Given the description of an element on the screen output the (x, y) to click on. 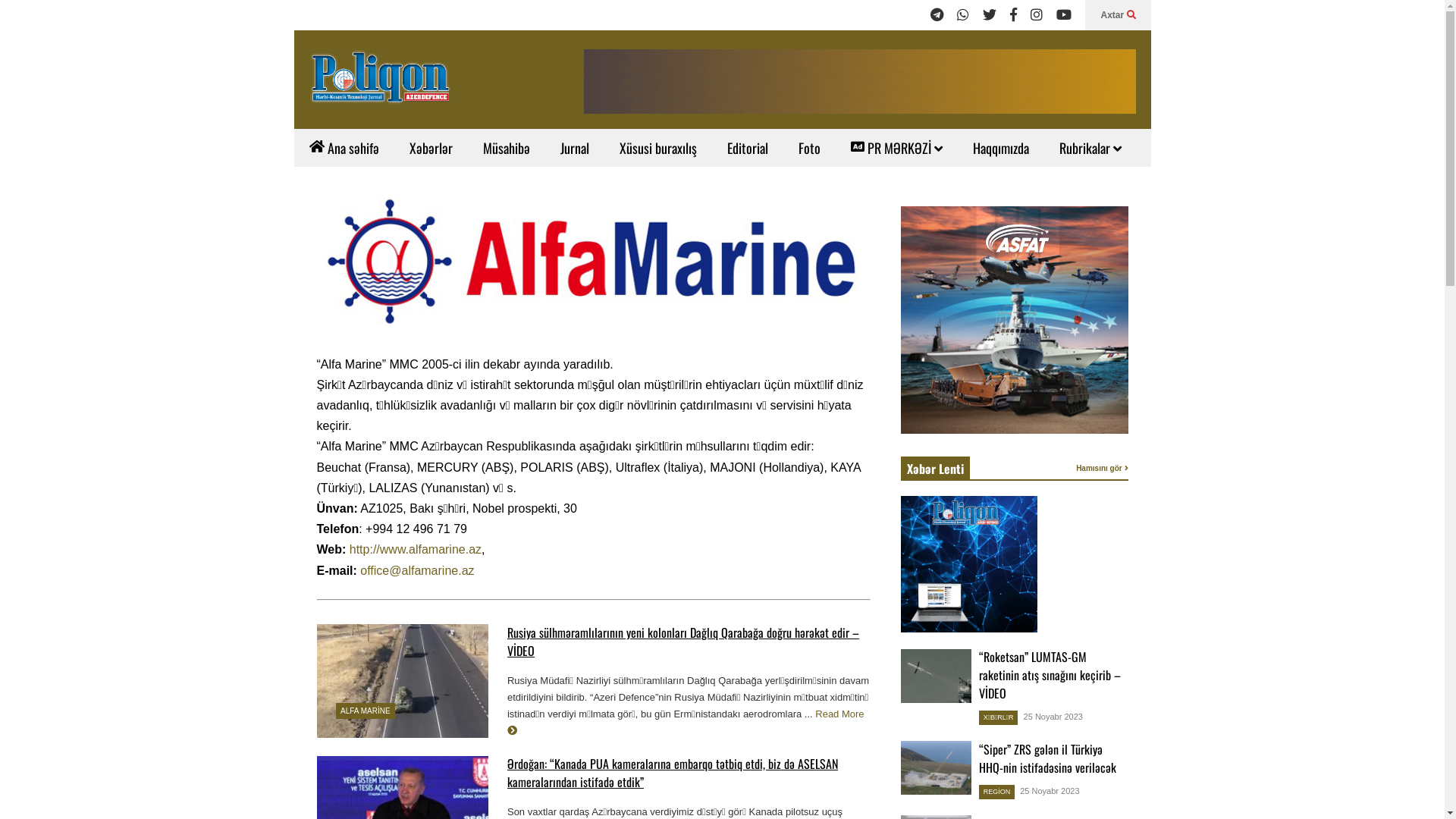
Youtube Element type: hover (1063, 15)
25 Noyabr 2023 Element type: text (1049, 790)
Whatsapp Element type: hover (963, 15)
Axtar Element type: text (1117, 15)
http://www.alfamarine.az Element type: text (415, 548)
Foto Element type: text (808, 147)
<span class="hpt_headertitle">Alfa Marine</span> Element type: hover (593, 260)
25 Noyabr 2023 Element type: text (1052, 716)
Twitter Element type: hover (989, 15)
office@alfamarine.az Element type: text (416, 570)
Telegram Element type: hover (936, 15)
Rubrikalar Element type: text (1089, 147)
Poliqon.az Element type: hover (380, 83)
Read More Element type: text (685, 722)
Jurnal Element type: text (573, 147)
REGION Element type: text (996, 791)
Instagram Element type: hover (1036, 15)
Facebook Element type: hover (1013, 15)
ALFA MARINE Element type: text (365, 710)
Editorial Element type: text (746, 147)
